Given the description of an element on the screen output the (x, y) to click on. 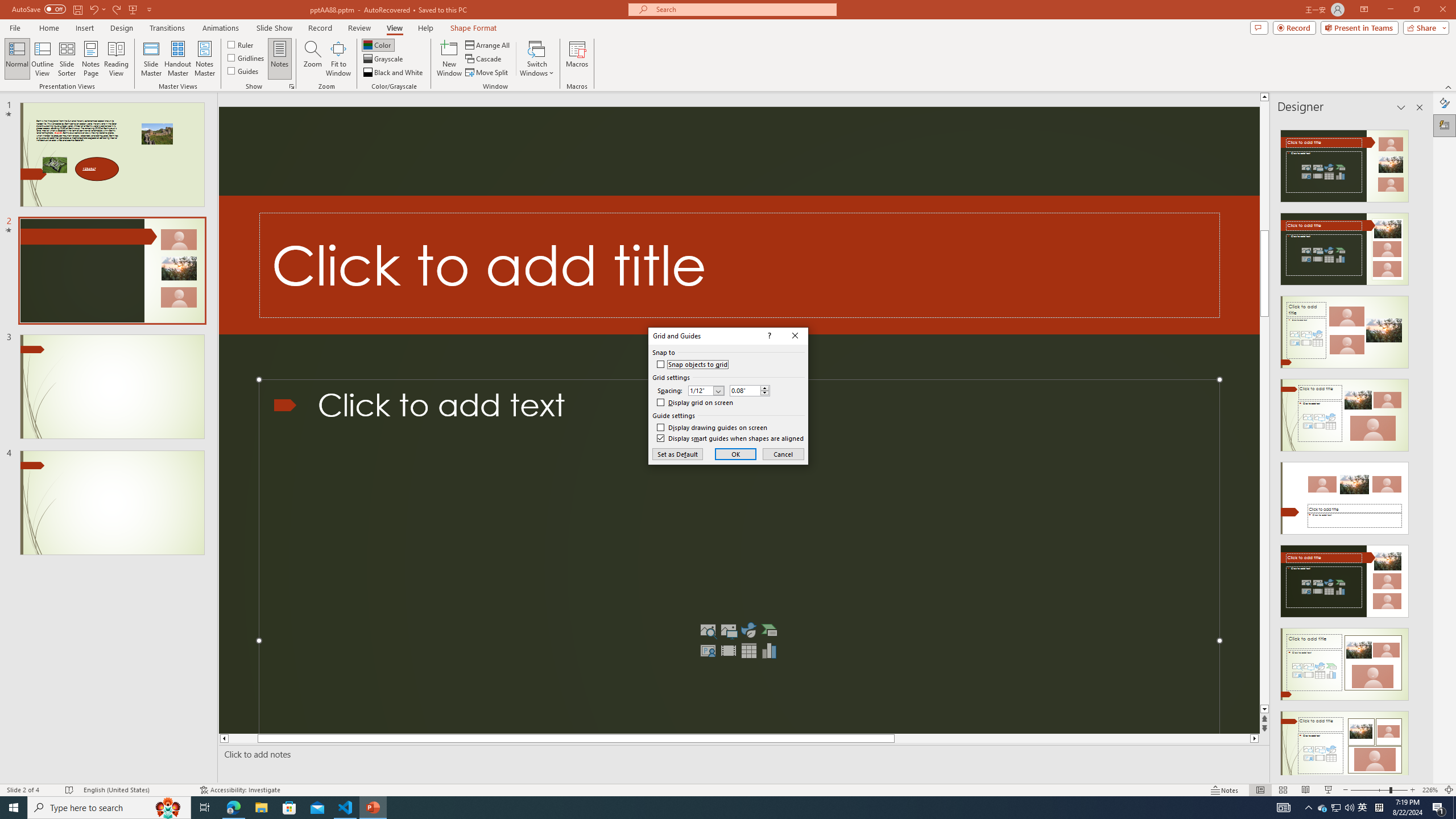
Zoom... (312, 58)
Custom Spacing (749, 390)
Custom Spacing (745, 390)
